Given the description of an element on the screen output the (x, y) to click on. 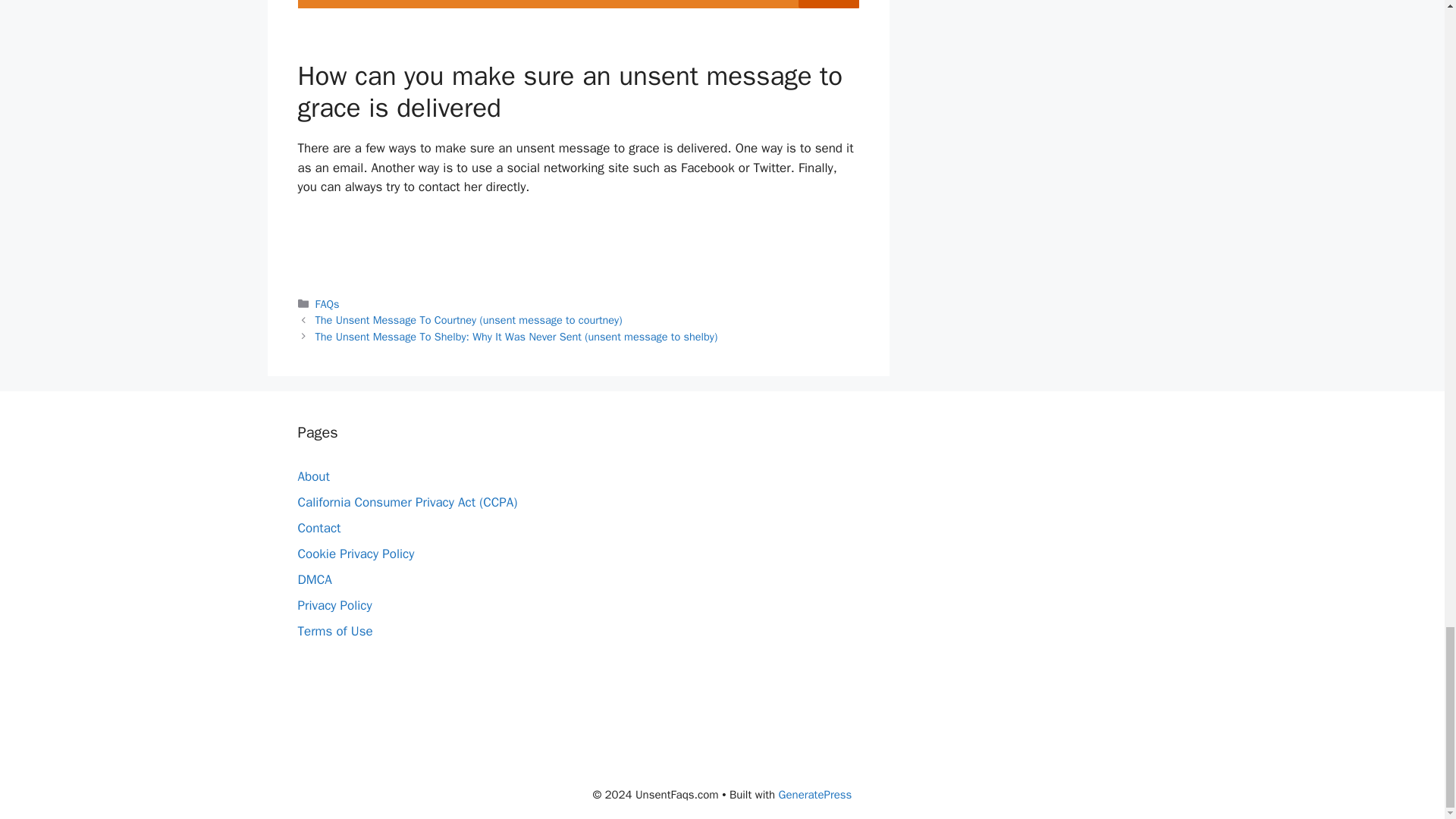
Previous (469, 319)
Next (516, 336)
FAQs (327, 304)
